Given the description of an element on the screen output the (x, y) to click on. 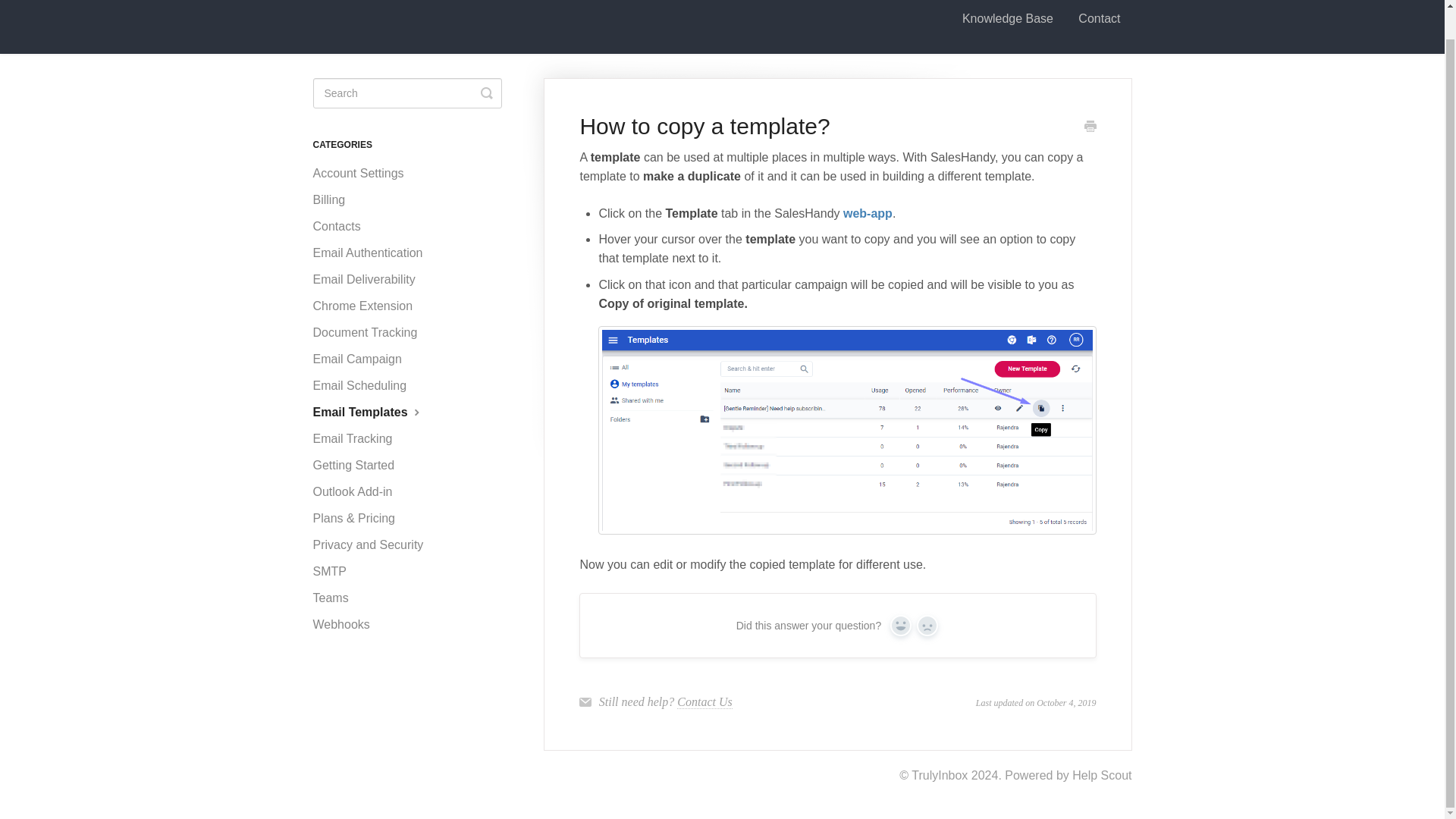
Teams (336, 598)
Chrome Extension (368, 306)
Contacts (342, 226)
Email Tracking (358, 438)
Knowledge Base (1007, 19)
Help Scout (1101, 775)
web-app (867, 213)
Contact (1099, 19)
Contact Us (704, 702)
Webhooks (346, 624)
